Given the description of an element on the screen output the (x, y) to click on. 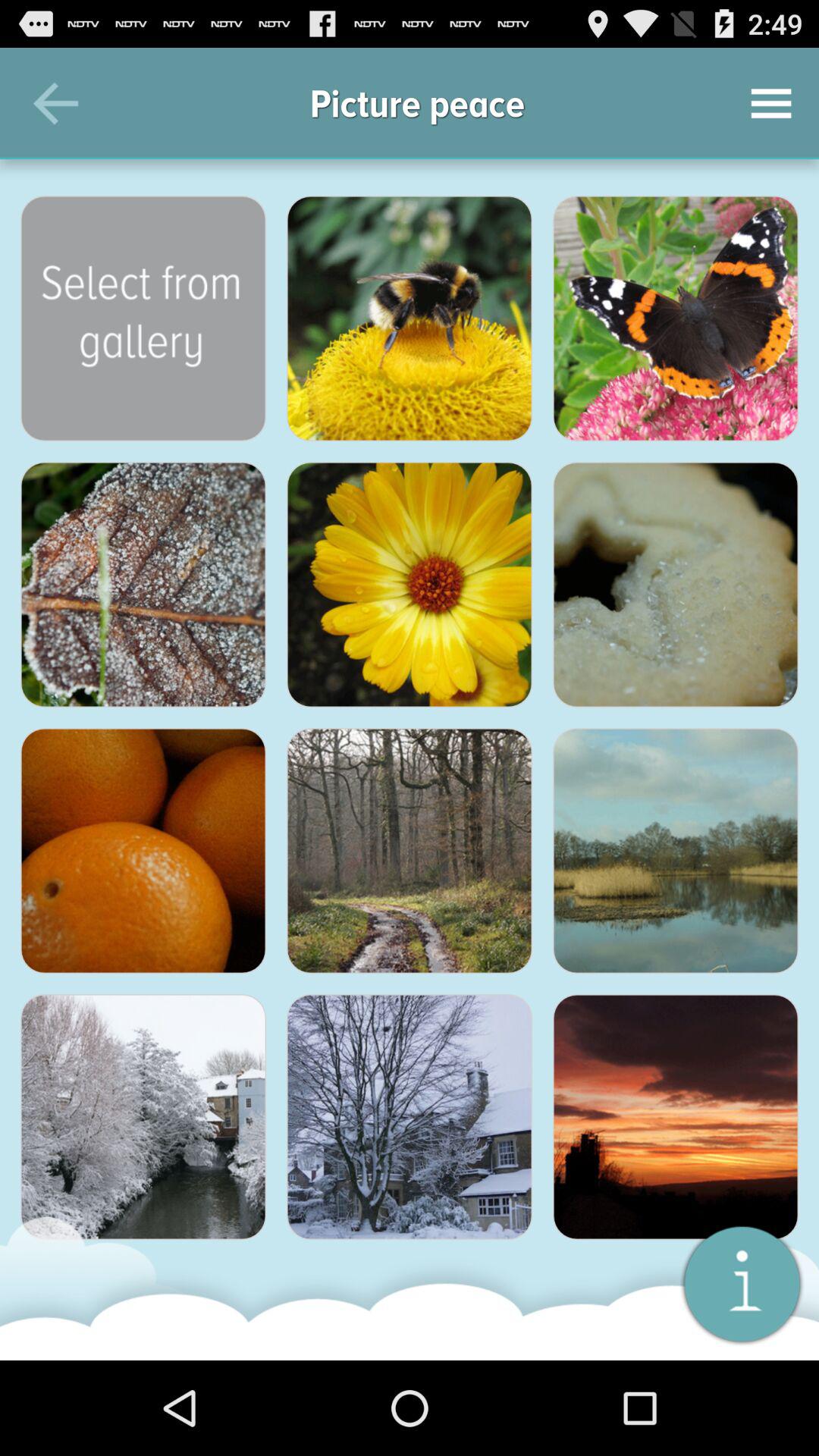
select photo (143, 850)
